Given the description of an element on the screen output the (x, y) to click on. 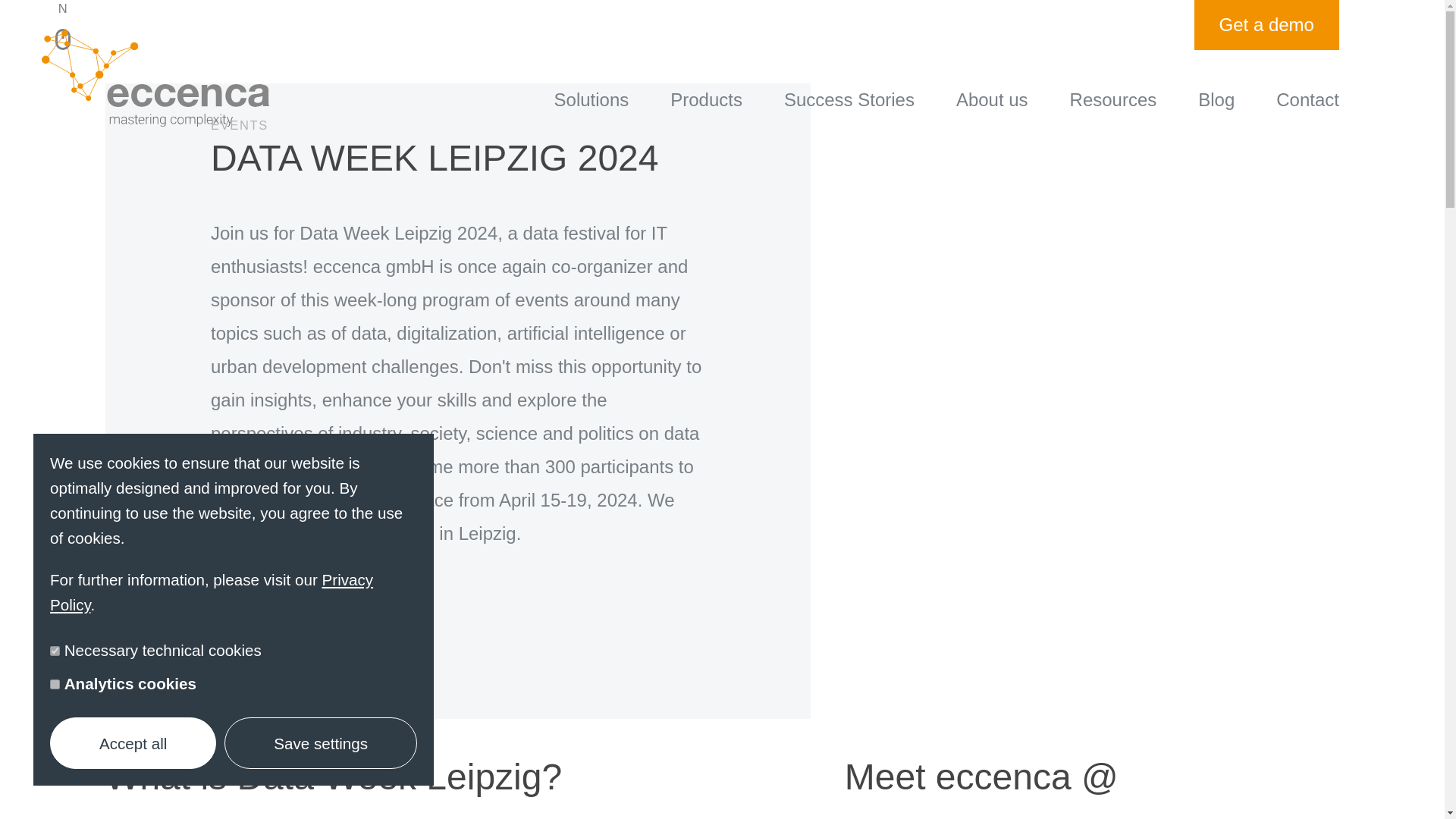
Products (705, 99)
Get a demo (1266, 24)
Resources (1113, 99)
Success Stories (849, 99)
Solutions (591, 99)
EVENTS (457, 150)
1 (54, 651)
Contact (1307, 99)
About us (991, 99)
1 (54, 684)
